Given the description of an element on the screen output the (x, y) to click on. 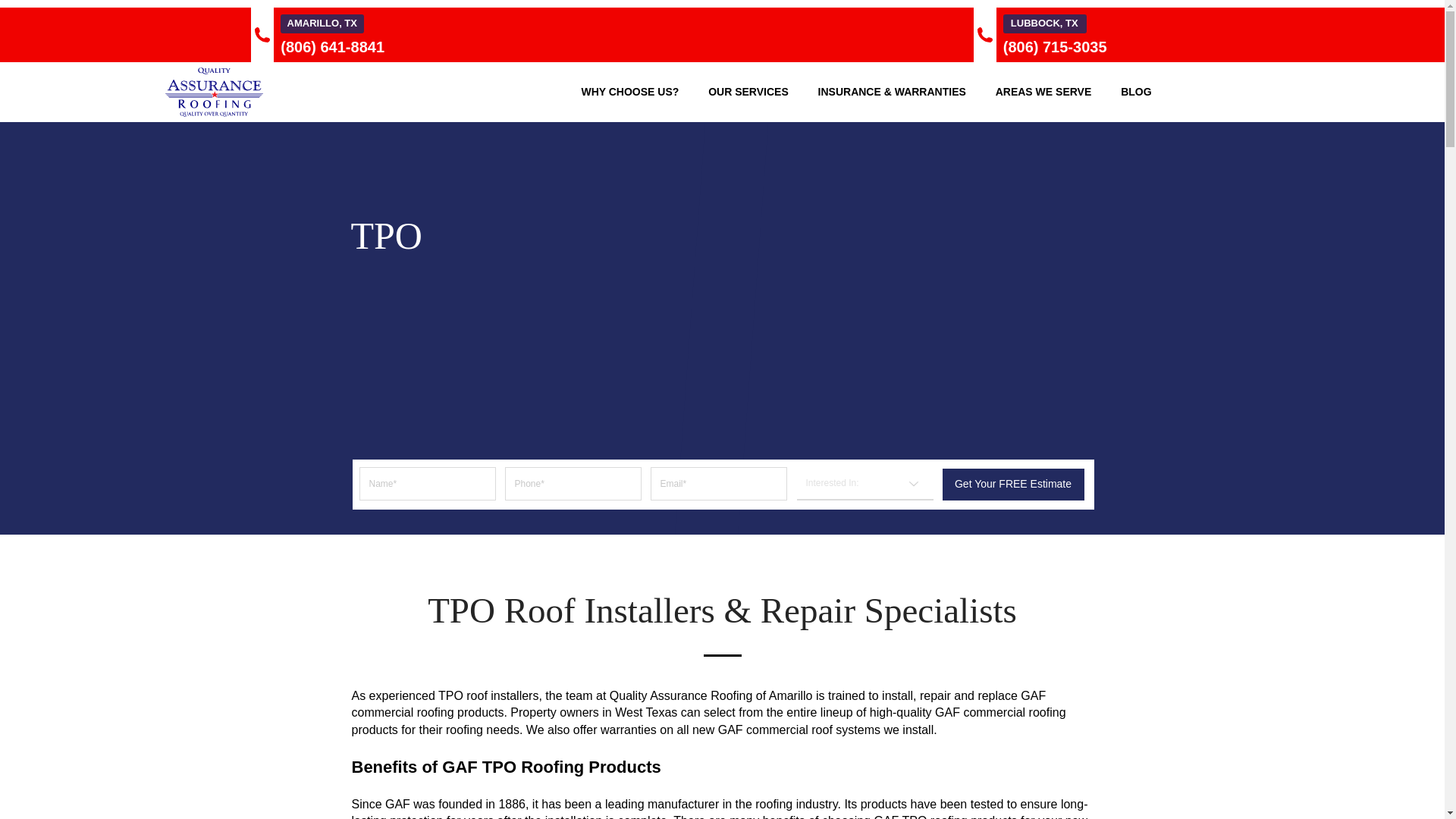
Get Your FREE Estimate (1012, 484)
WHY CHOOSE US? (629, 91)
AREAS WE SERVE (1043, 91)
BLOG (1136, 91)
OUR SERVICES (748, 91)
